Given the description of an element on the screen output the (x, y) to click on. 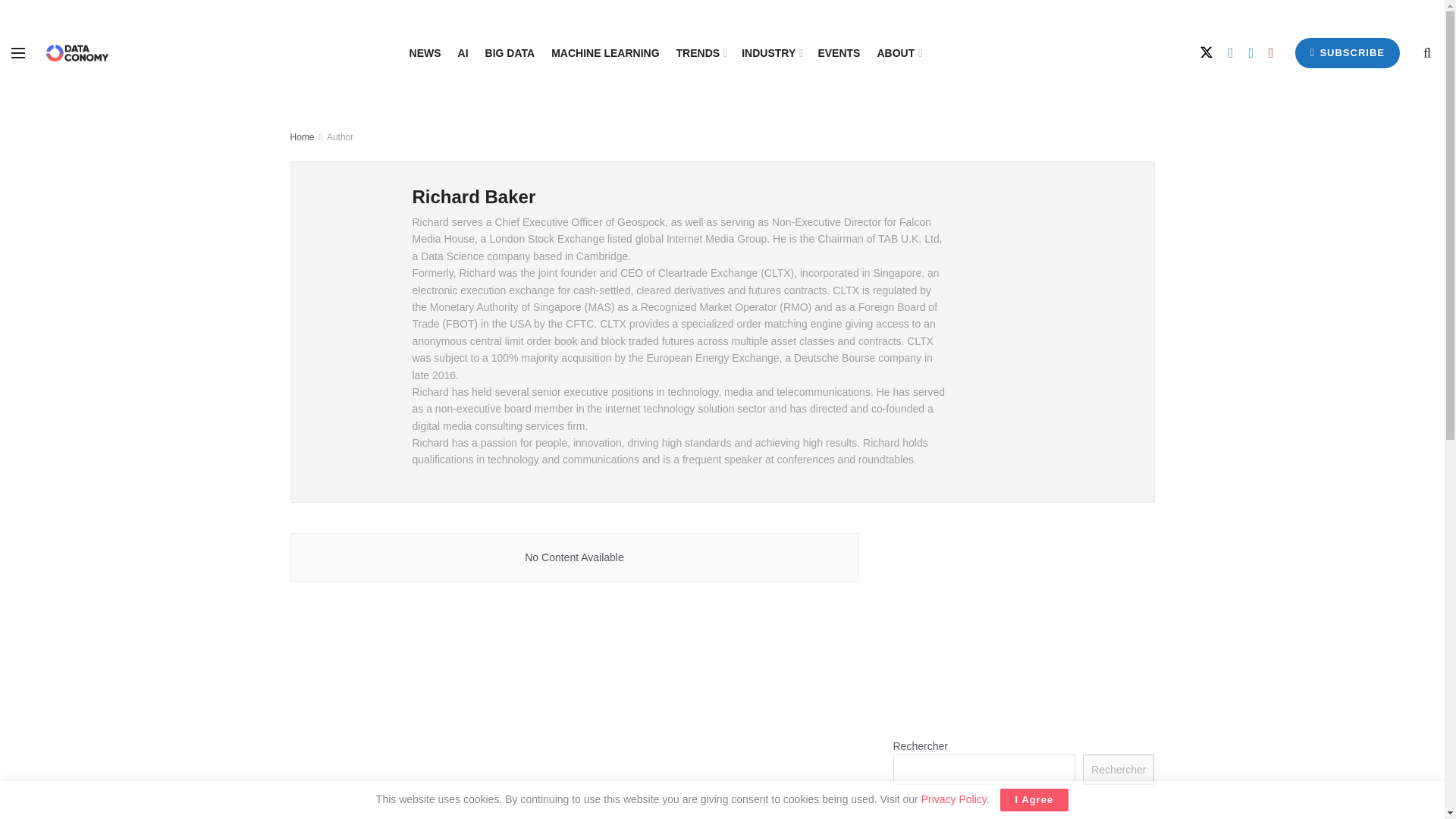
EVENTS (838, 52)
INDUSTRY (770, 52)
MACHINE LEARNING (605, 52)
ABOUT (898, 52)
NEWS (425, 52)
TRENDS (701, 52)
SUBSCRIBE (1347, 52)
BIG DATA (509, 52)
